Given the description of an element on the screen output the (x, y) to click on. 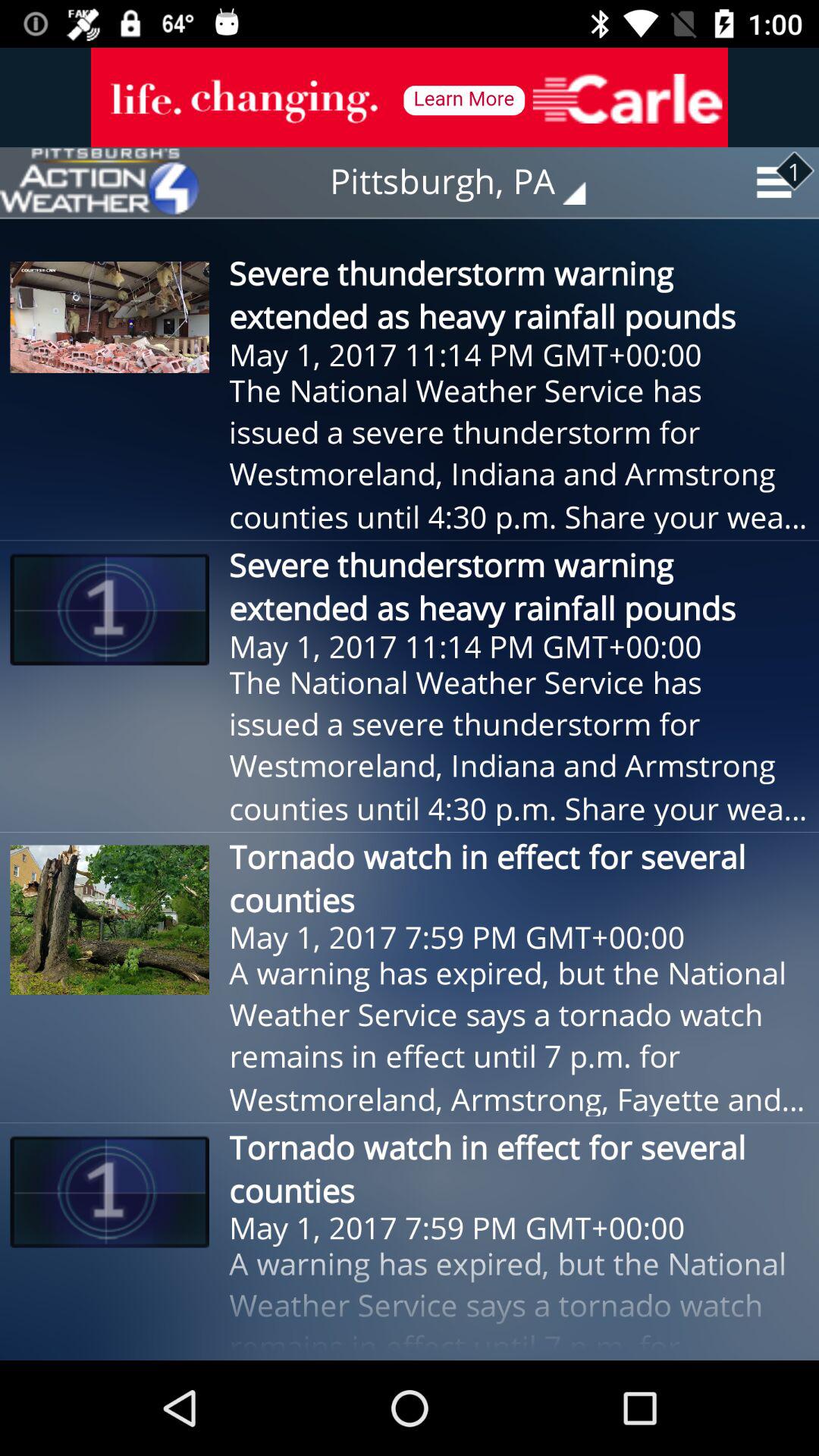
an advertisement for carle (409, 97)
